Given the description of an element on the screen output the (x, y) to click on. 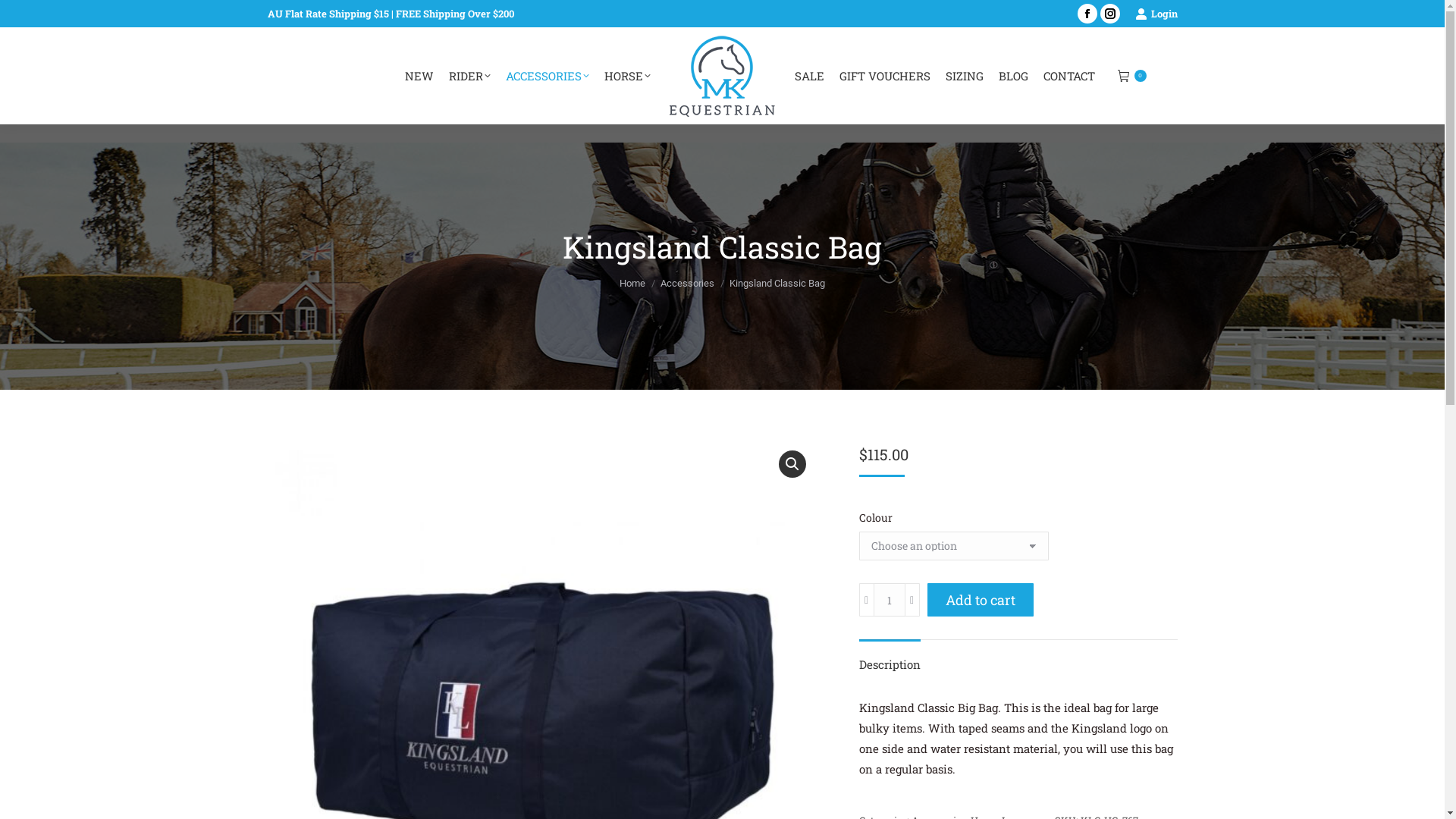
NEW Element type: text (419, 75)
GIFT VOUCHERS Element type: text (884, 75)
SALE Element type: text (809, 75)
Add to cart Element type: text (979, 599)
 0 Element type: text (1131, 75)
Instagram page opens in new window Element type: text (1109, 13)
Home Element type: text (632, 282)
Facebook page opens in new window Element type: text (1086, 13)
RIDER Element type: text (469, 75)
Login Element type: text (1155, 13)
SIZING Element type: text (963, 75)
HORSE Element type: text (626, 75)
Description Element type: text (888, 663)
ACCESSORIES Element type: text (546, 75)
BLOG Element type: text (1012, 75)
CONTACT Element type: text (1068, 75)
Accessories Element type: text (687, 282)
